Given the description of an element on the screen output the (x, y) to click on. 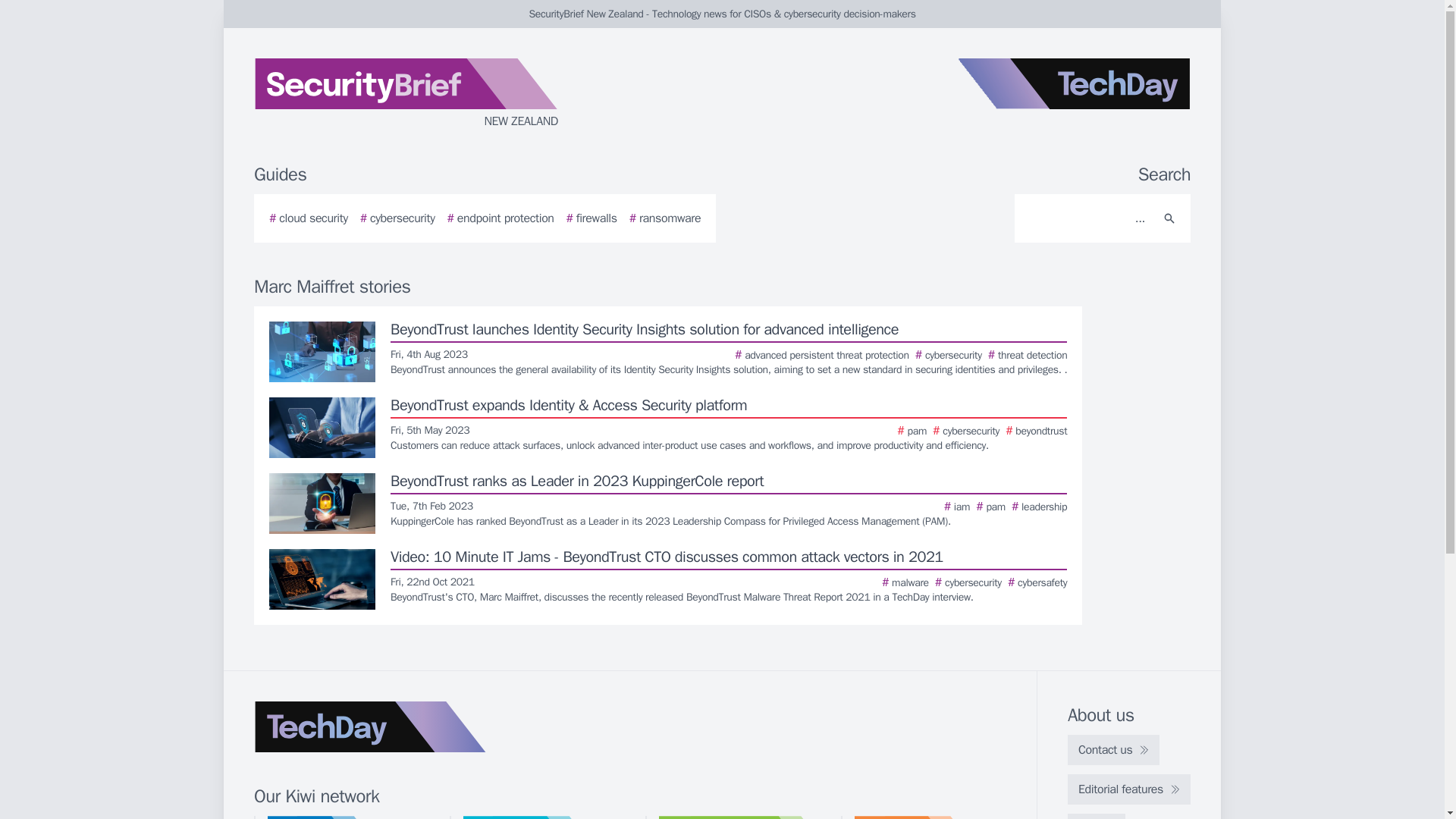
Editorial features (1129, 788)
Contact us (1112, 749)
NEW ZEALAND (435, 94)
